Given the description of an element on the screen output the (x, y) to click on. 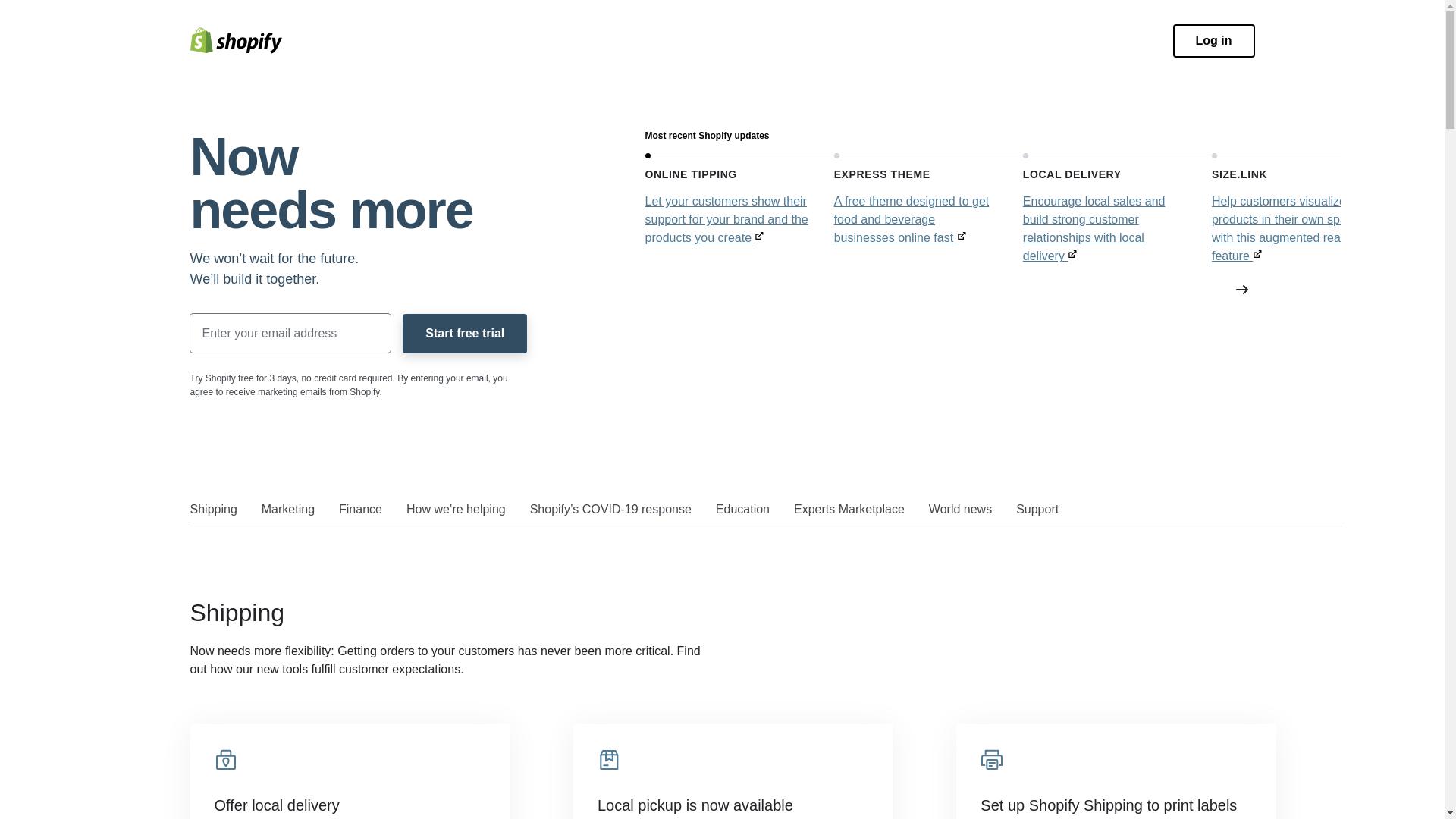
Home (235, 40)
Marketing (288, 510)
Start free trial (465, 332)
Education (743, 510)
Support (1037, 510)
Home (235, 40)
World news (959, 510)
Finance (360, 510)
Log in (1214, 40)
Shipping (212, 510)
Experts Marketplace (848, 510)
